Given the description of an element on the screen output the (x, y) to click on. 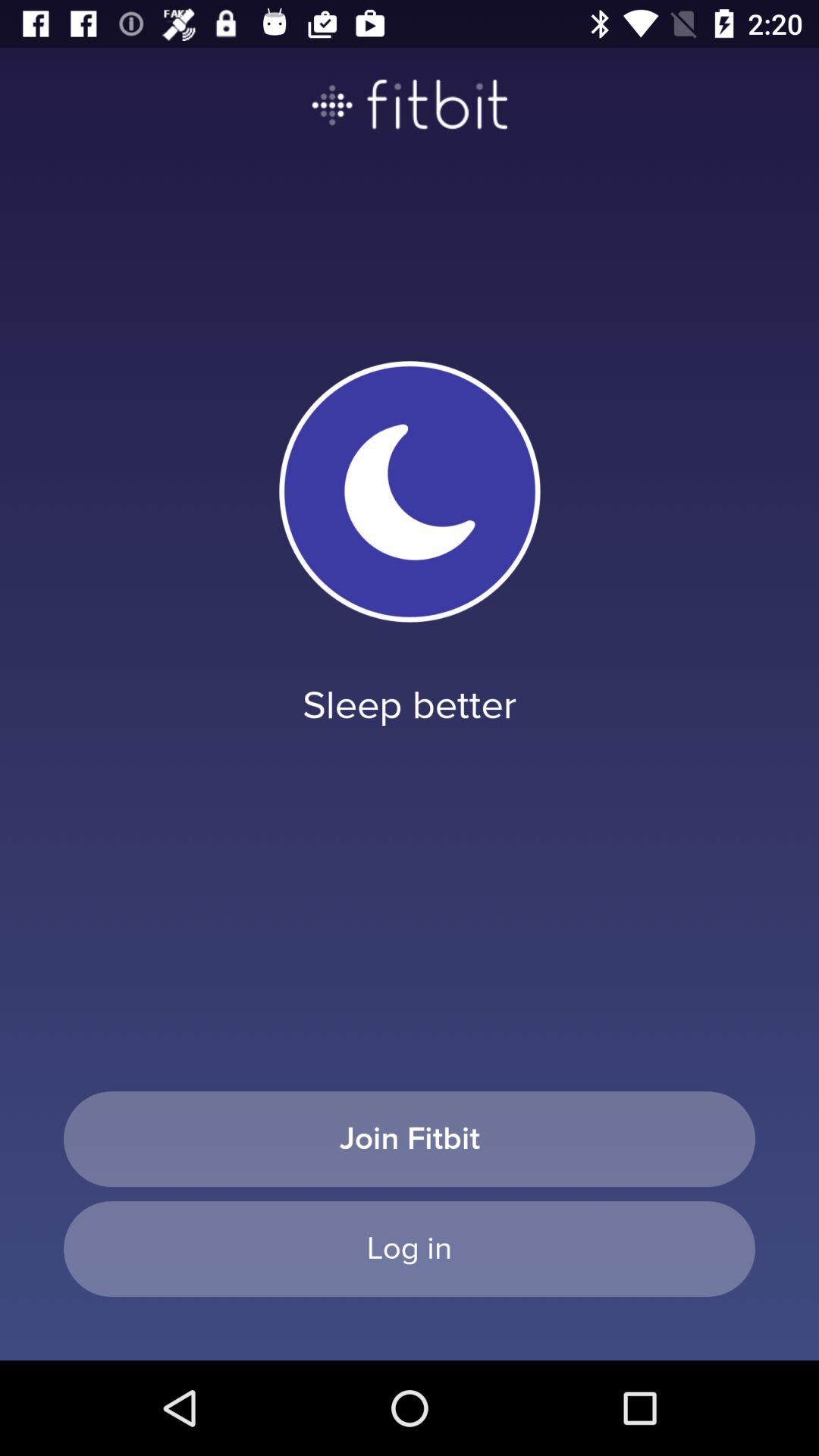
select the icon below the join fitbit (409, 1248)
